Given the description of an element on the screen output the (x, y) to click on. 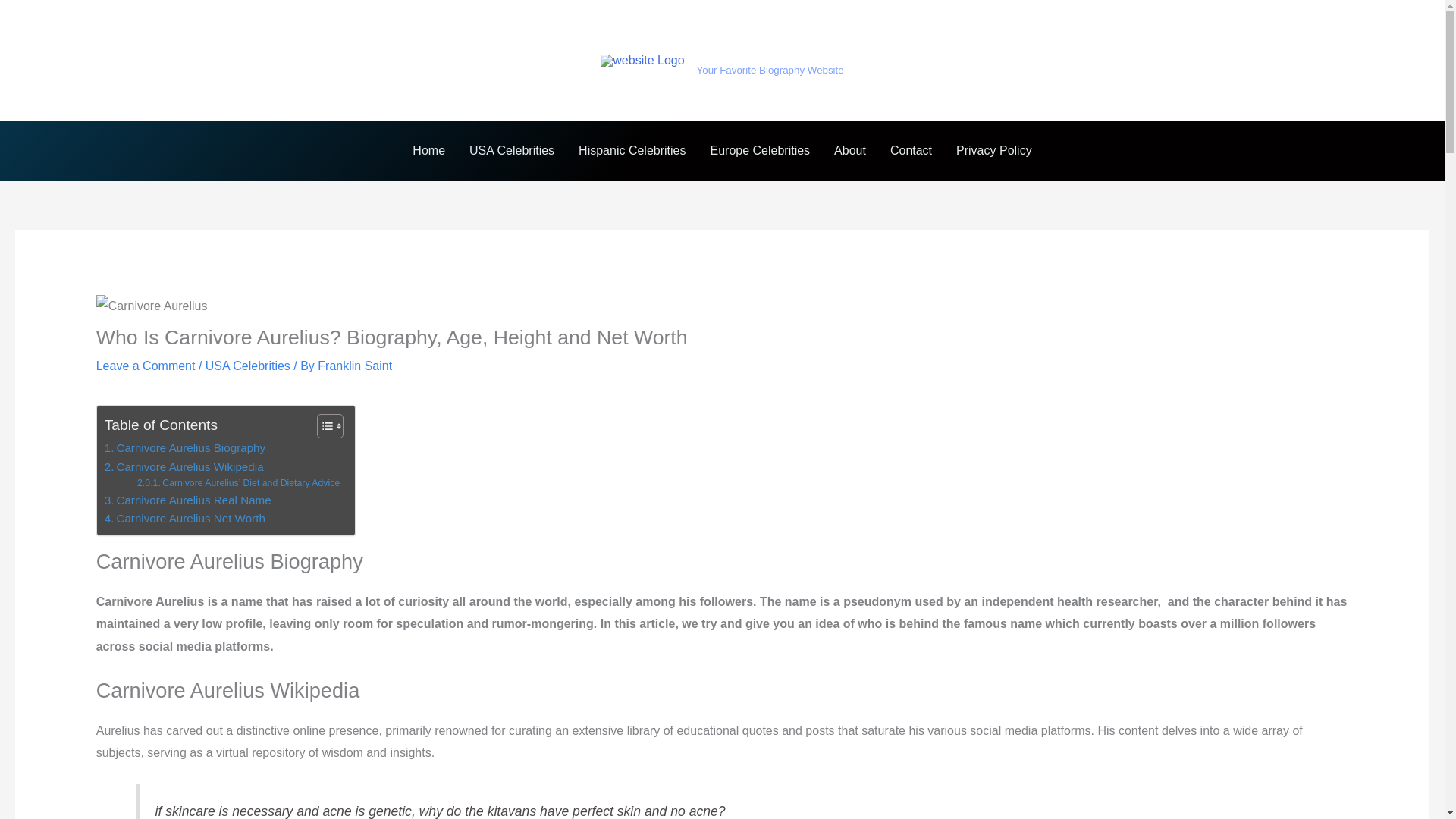
Carnivore Aurelius Biography (184, 447)
Contact (910, 150)
Biographies Are Us (769, 51)
Carnivore Aurelius Net Worth (184, 518)
Carnivore Aurelius Wikipedia (183, 466)
Home (428, 150)
Hispanic Celebrities (631, 150)
About (849, 150)
Europe Celebrities (759, 150)
Carnivore Aurelius Wikipedia (183, 466)
